Given the description of an element on the screen output the (x, y) to click on. 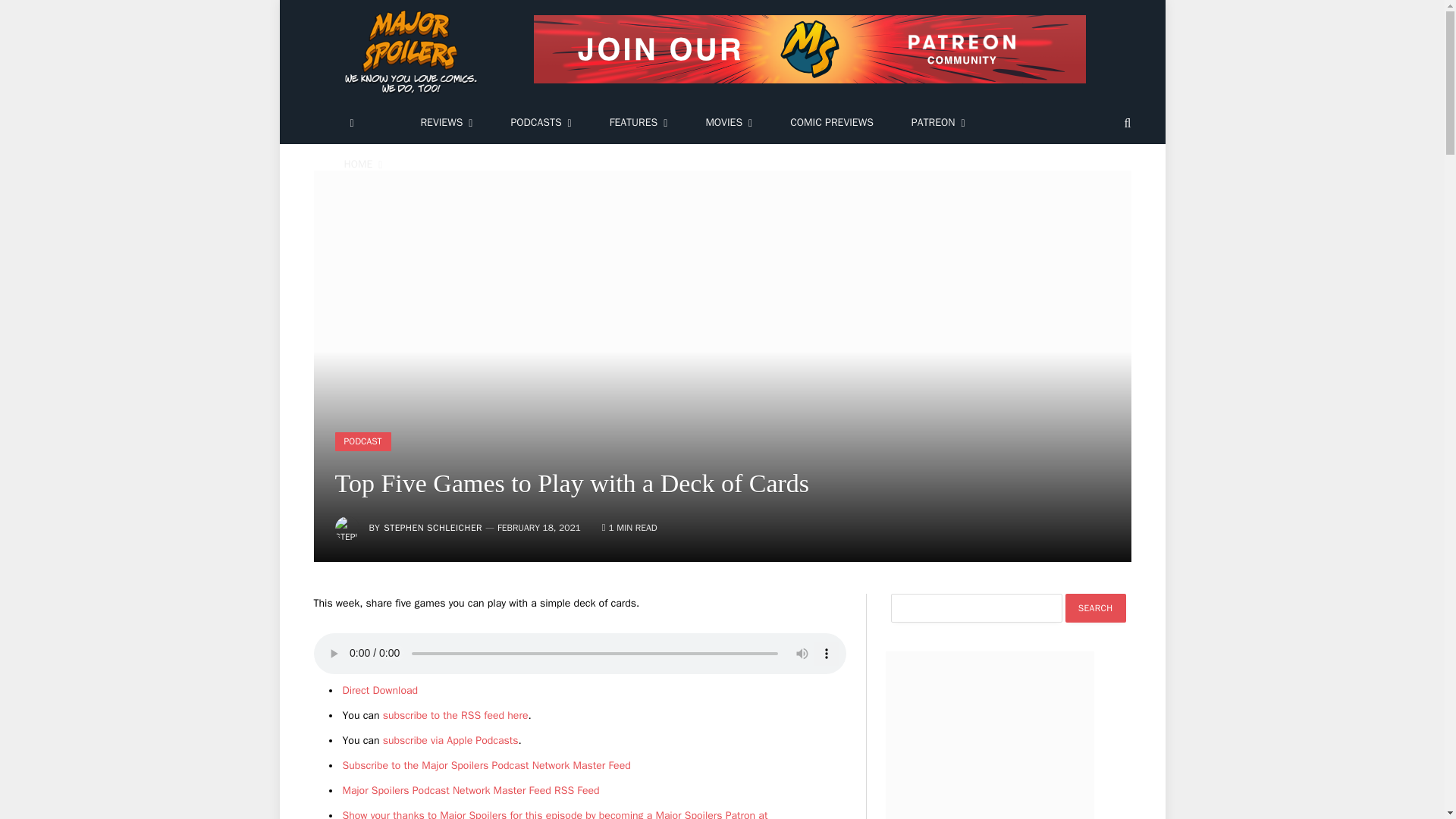
Major Spoilers Patreon (555, 814)
Posts by Stephen Schleicher (432, 527)
Top Five RSS Feed (455, 715)
Major Spoilers (412, 51)
Search (1095, 607)
REVIEWS (446, 123)
HOME (362, 164)
PODCASTS (540, 123)
Top Five iTunes Feed (450, 739)
